Given the description of an element on the screen output the (x, y) to click on. 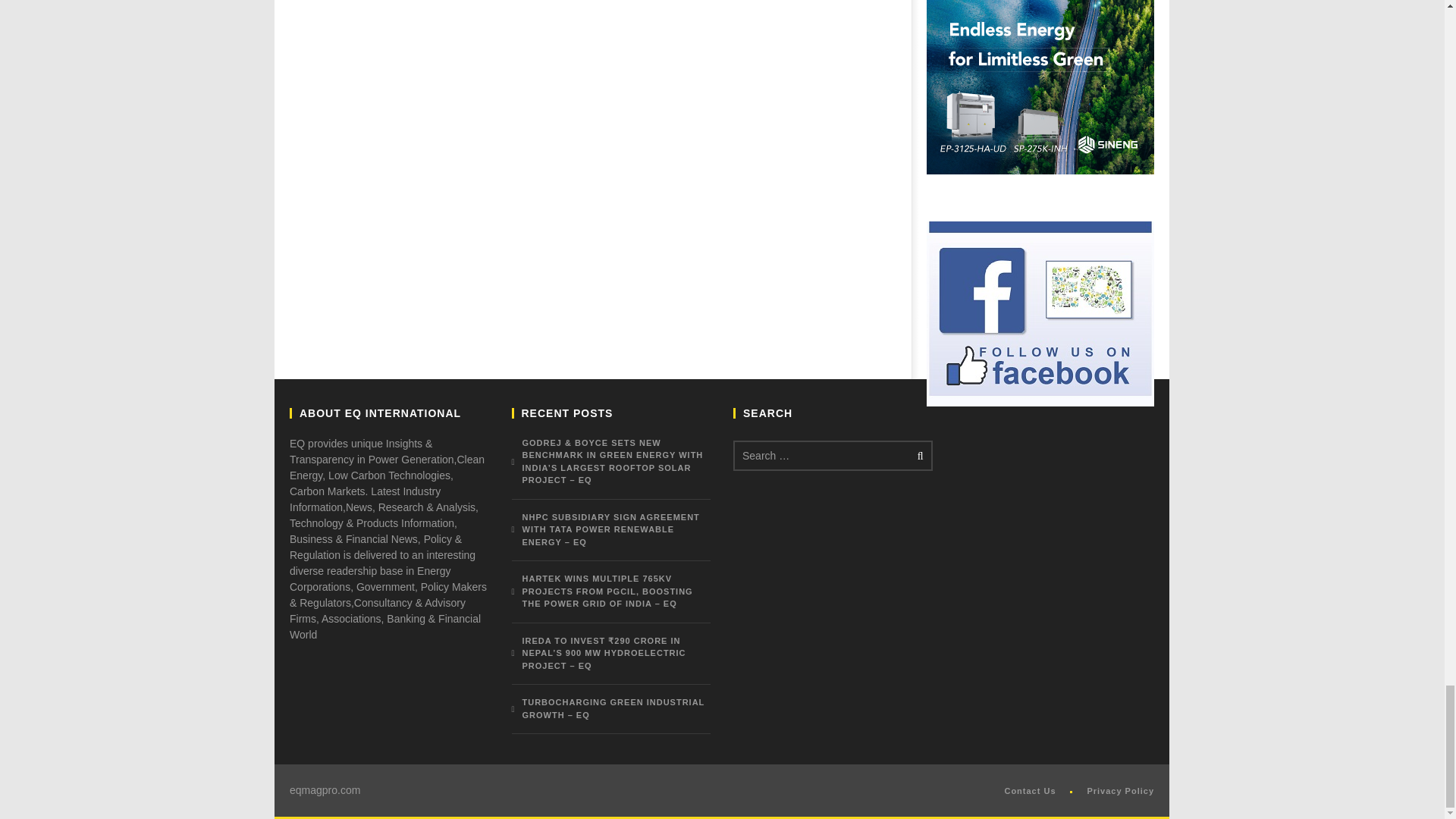
Search (917, 455)
Search (917, 455)
